Given the description of an element on the screen output the (x, y) to click on. 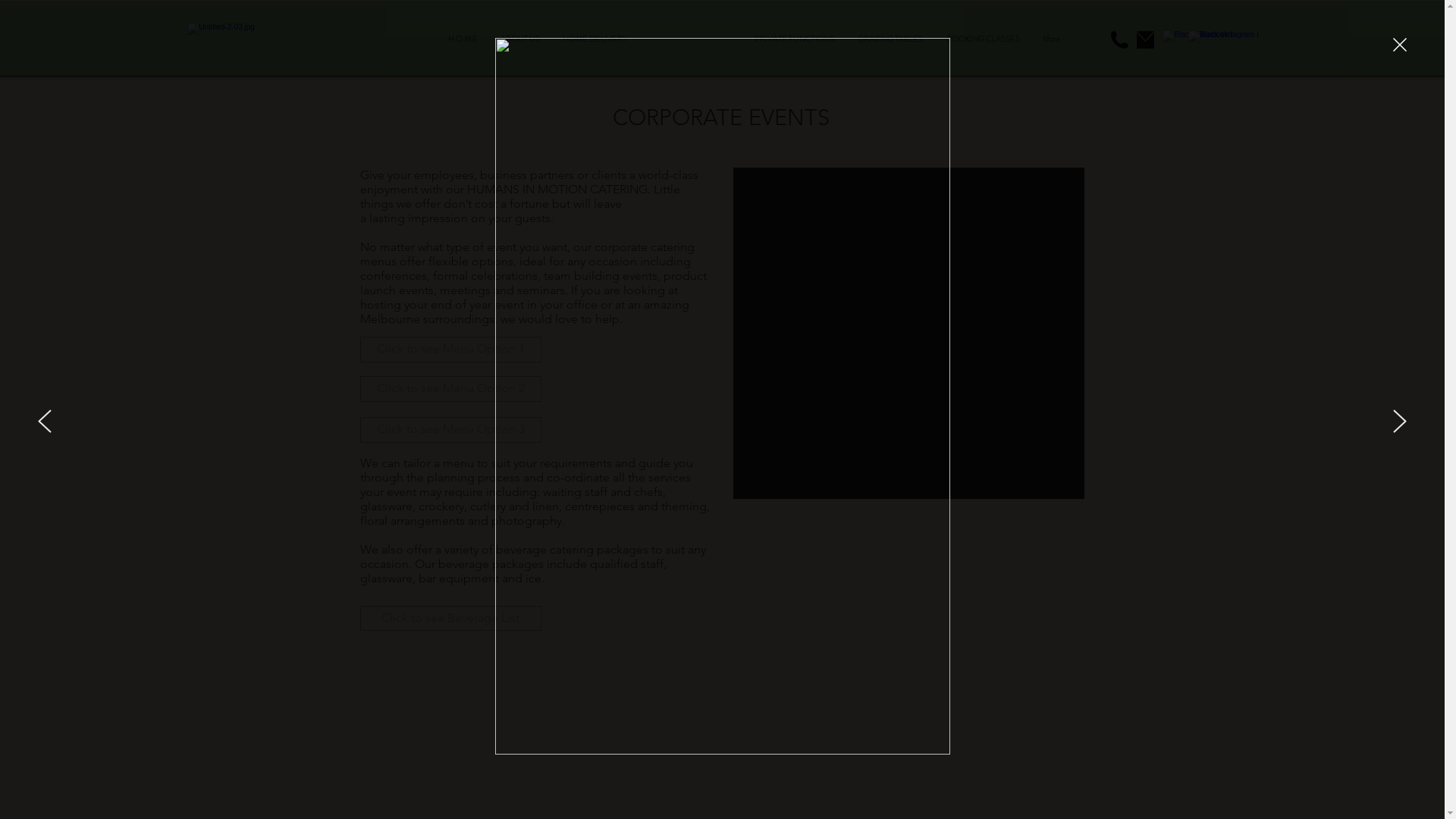
Click to see Menu Option 3 Element type: text (449, 429)
COOKING CLASSES Element type: text (982, 38)
ABOUT US Element type: text (519, 38)
PRIVATE FUNCTIONS Element type: text (794, 38)
Click to see Menu Option 2 Element type: text (449, 388)
Click to see Beverage List Element type: text (449, 617)
GRAZING TABLES Element type: text (890, 38)
CORPORATE EVENTS Element type: text (690, 38)
Click to see Menu Option 1 Element type: text (449, 349)
H O M E Element type: text (462, 38)
HOME DELIVERY Element type: text (593, 38)
